Given the description of an element on the screen output the (x, y) to click on. 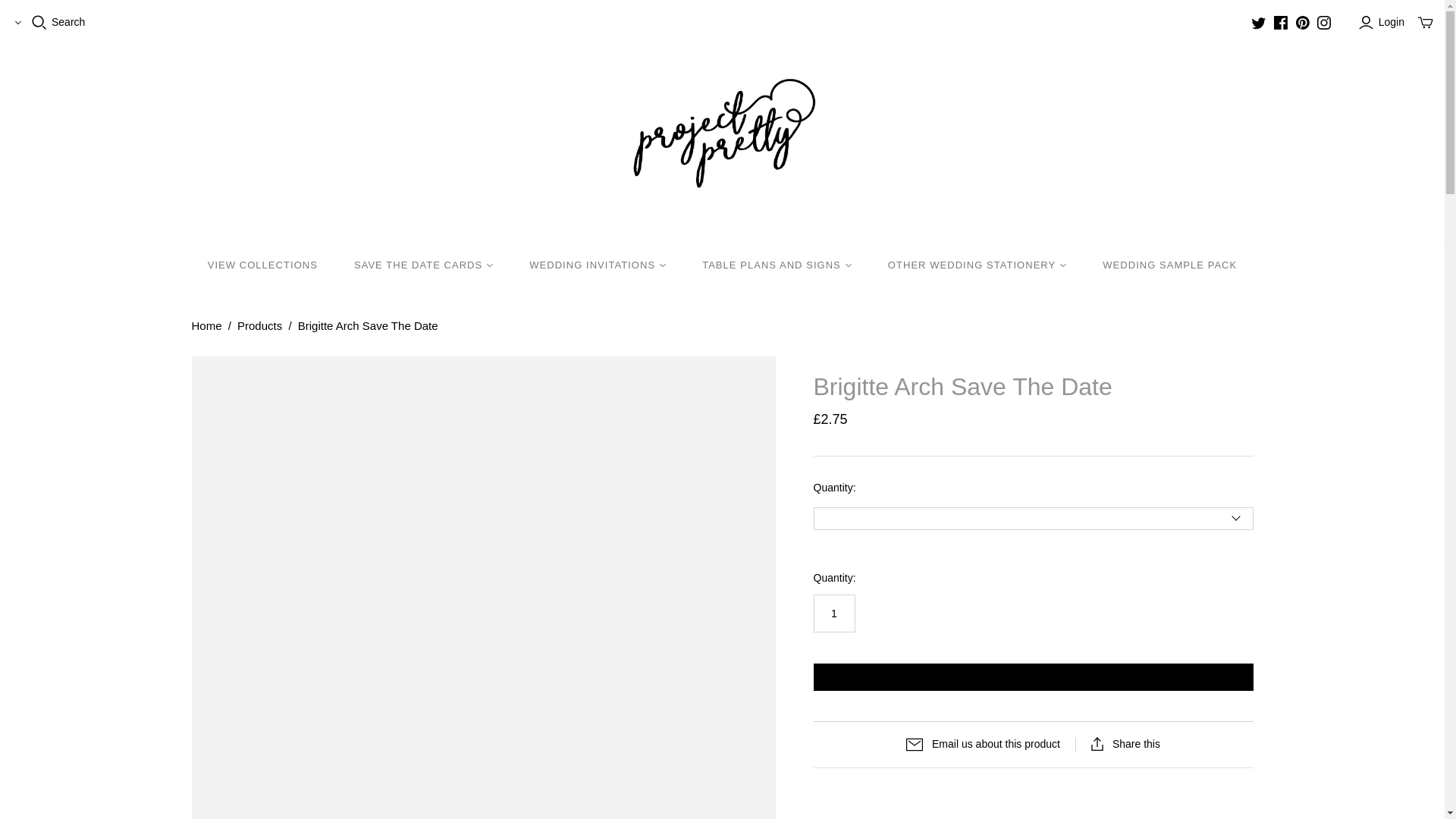
WEDDING INVITATIONS (597, 265)
1 (833, 613)
Login (1383, 22)
VIEW COLLECTIONS (262, 265)
OTHER WEDDING STATIONERY (976, 265)
TABLE PLANS AND SIGNS (776, 265)
SAVE THE DATE CARDS (423, 265)
